Given the description of an element on the screen output the (x, y) to click on. 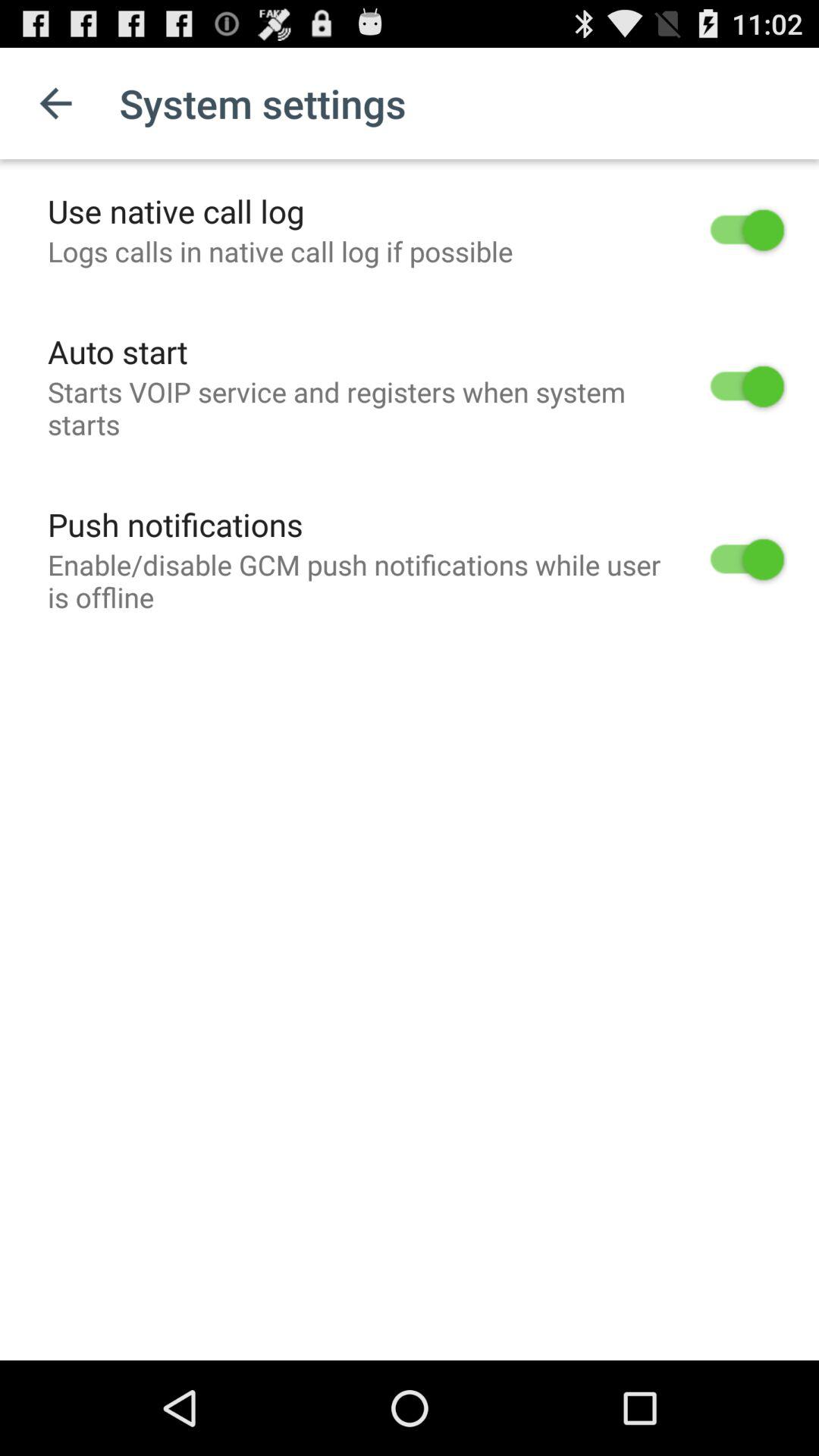
select the first switch on the right side of the web page (747, 229)
